Given the description of an element on the screen output the (x, y) to click on. 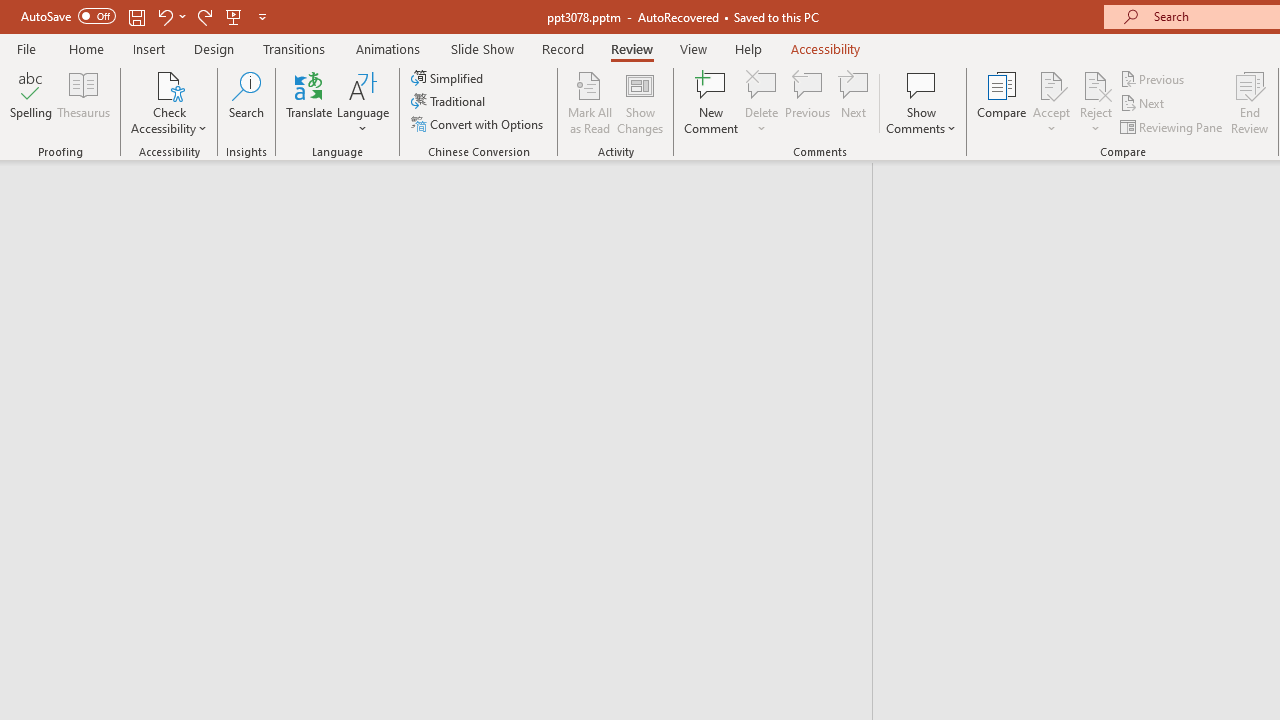
Search (246, 102)
Previous (1153, 78)
Check Accessibility (169, 102)
Accept (1051, 102)
New Comment (711, 102)
Check Accessibility (169, 84)
Reviewing Pane (1172, 126)
Next (1144, 103)
